Given the description of an element on the screen output the (x, y) to click on. 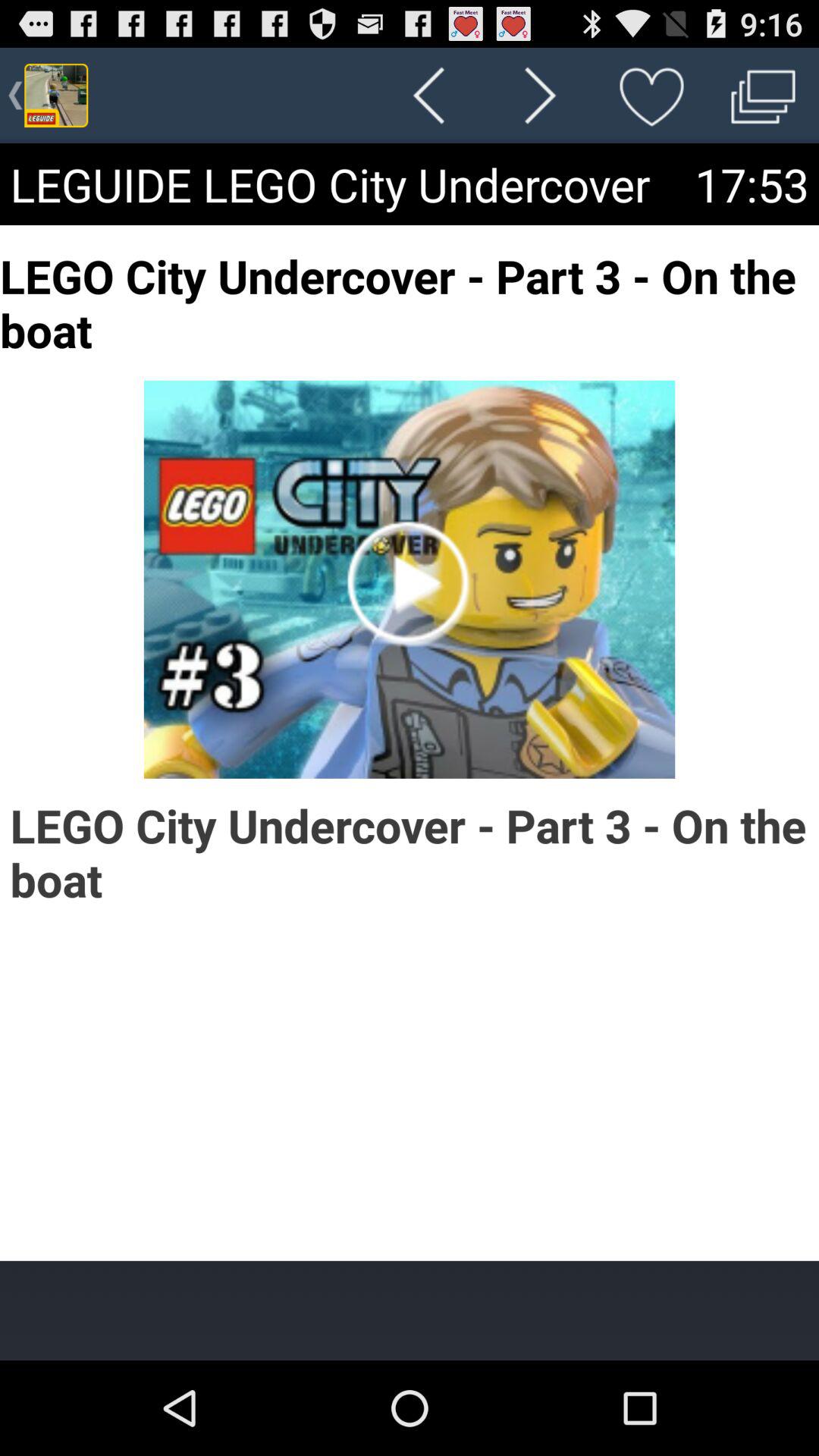
open the app above the leguide lego city item (540, 95)
